Given the description of an element on the screen output the (x, y) to click on. 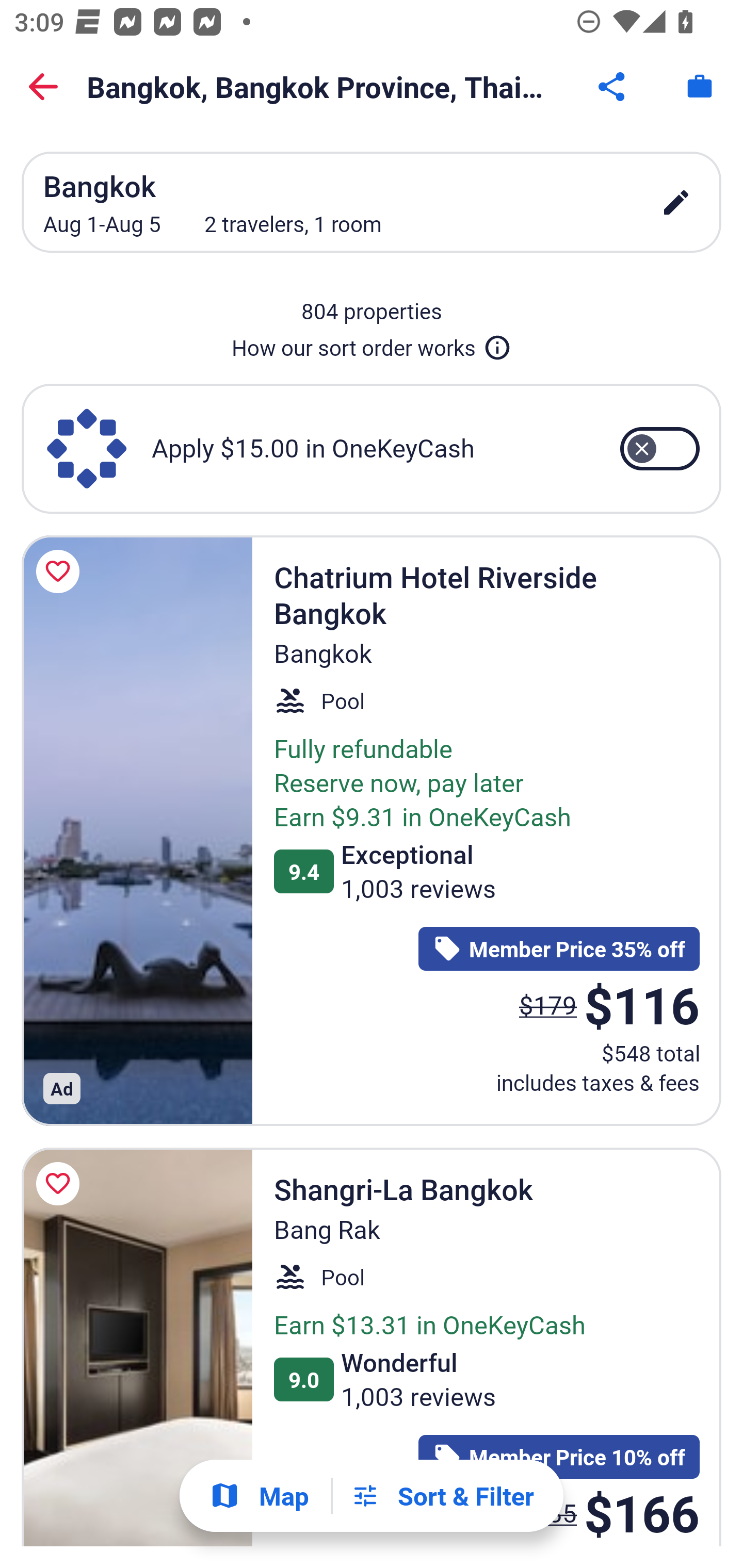
Back (43, 86)
Share Button (612, 86)
Trips. Button (699, 86)
Bangkok Aug 1-Aug 5 2 travelers, 1 room edit (371, 202)
How our sort order works (371, 344)
Save Chatrium Hotel Riverside Bangkok to a trip (61, 571)
Chatrium Hotel Riverside Bangkok (136, 829)
$179 The price was $179 (547, 1004)
Save Shangri-La Bangkok to a trip (61, 1183)
Shangri-La Bangkok (136, 1346)
Filters Sort & Filter Filters Button (442, 1495)
Show map Map Show map Button (258, 1495)
